Given the description of an element on the screen output the (x, y) to click on. 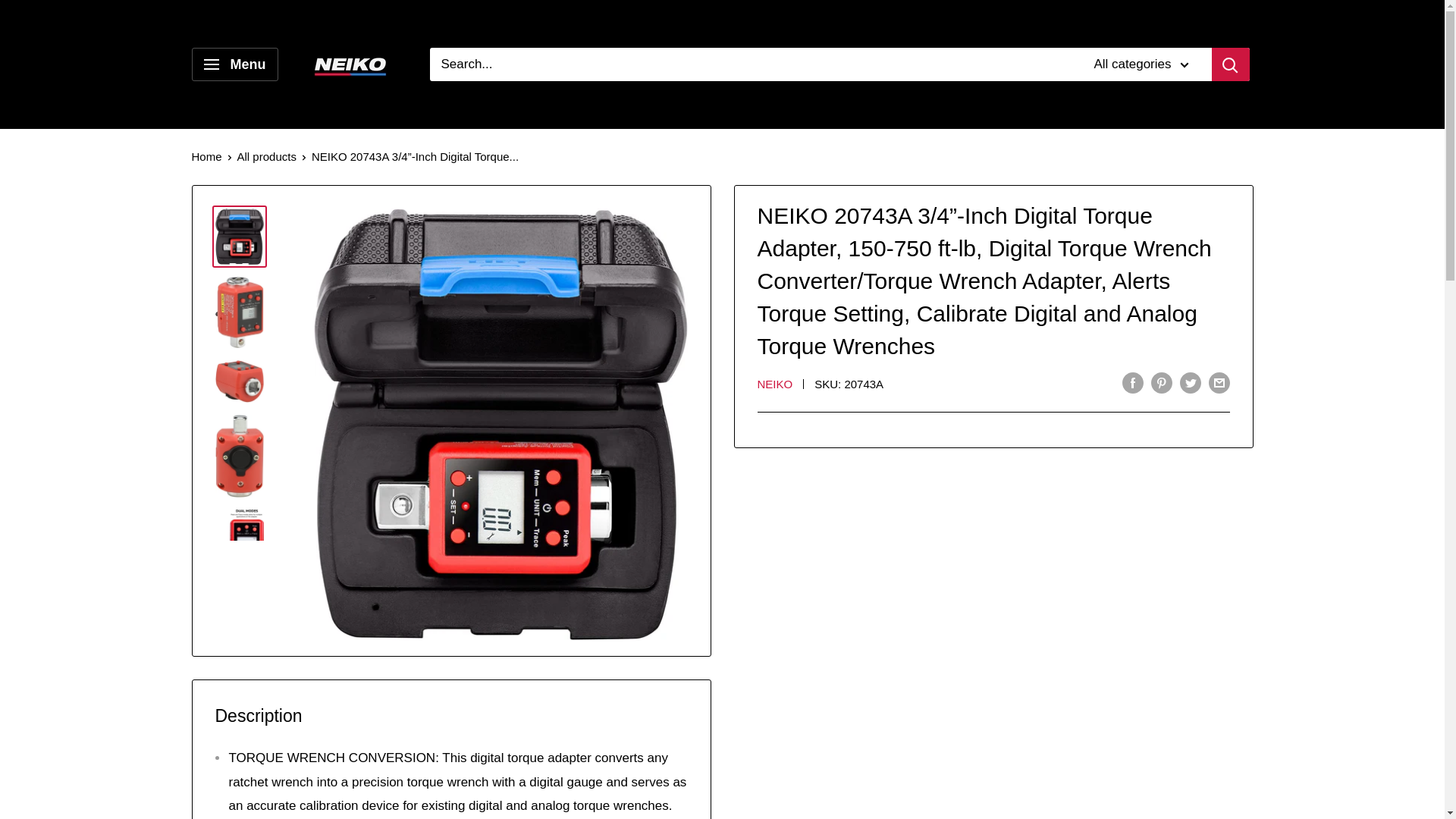
Home (205, 155)
All products (267, 155)
Menu (234, 64)
NEIKO (774, 383)
